Given the description of an element on the screen output the (x, y) to click on. 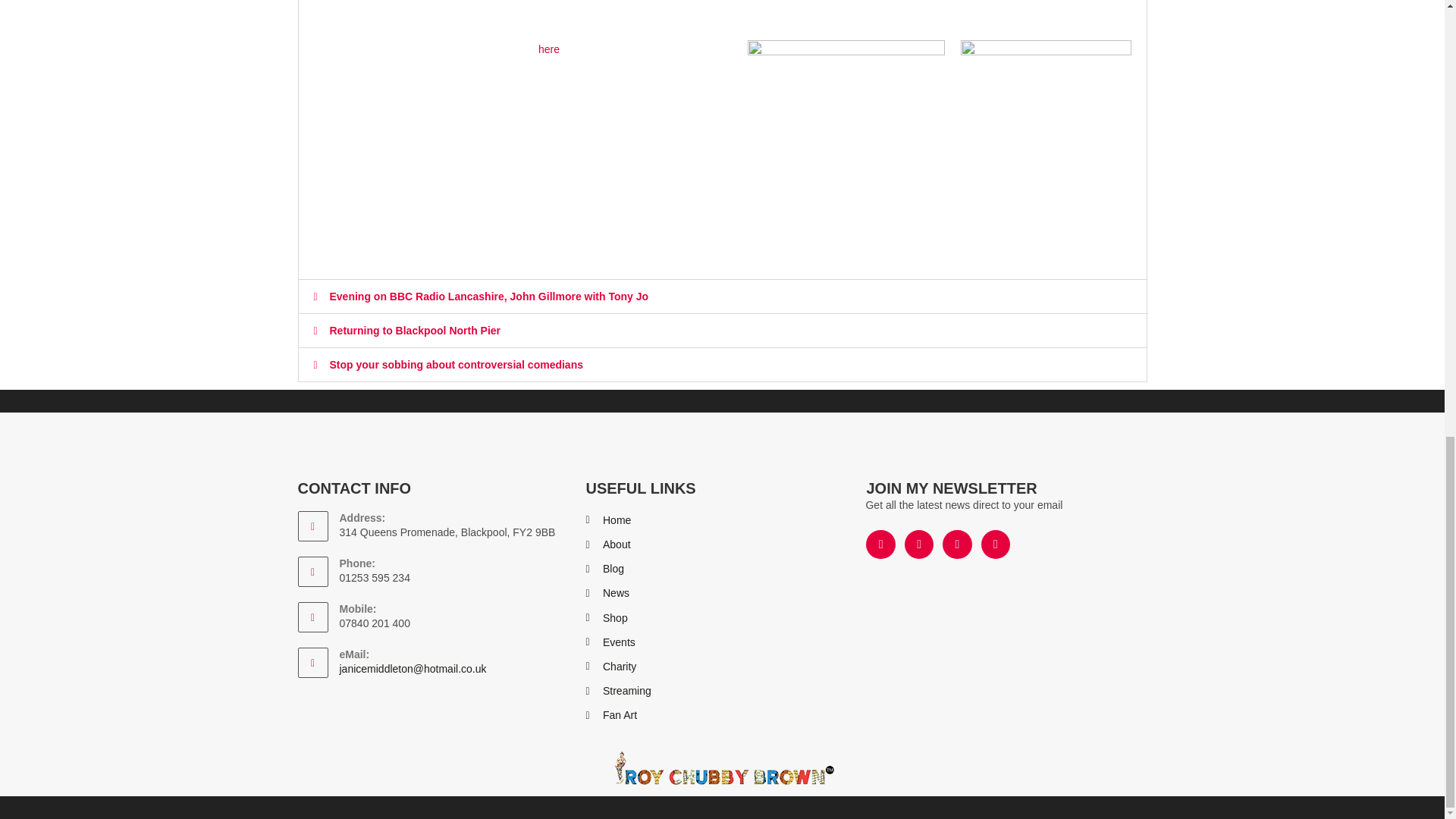
Streaming (722, 691)
Blog (722, 568)
About (722, 544)
Charity (722, 666)
Shop (722, 618)
News (722, 592)
here (548, 49)
Returning to Blackpool North Pier (414, 330)
Evening on BBC Radio Lancashire, John Gillmore with Tony Jo (488, 296)
Stop your sobbing about controversial comedians (456, 364)
Fan Art (722, 714)
Home (722, 520)
Events (722, 642)
